Given the description of an element on the screen output the (x, y) to click on. 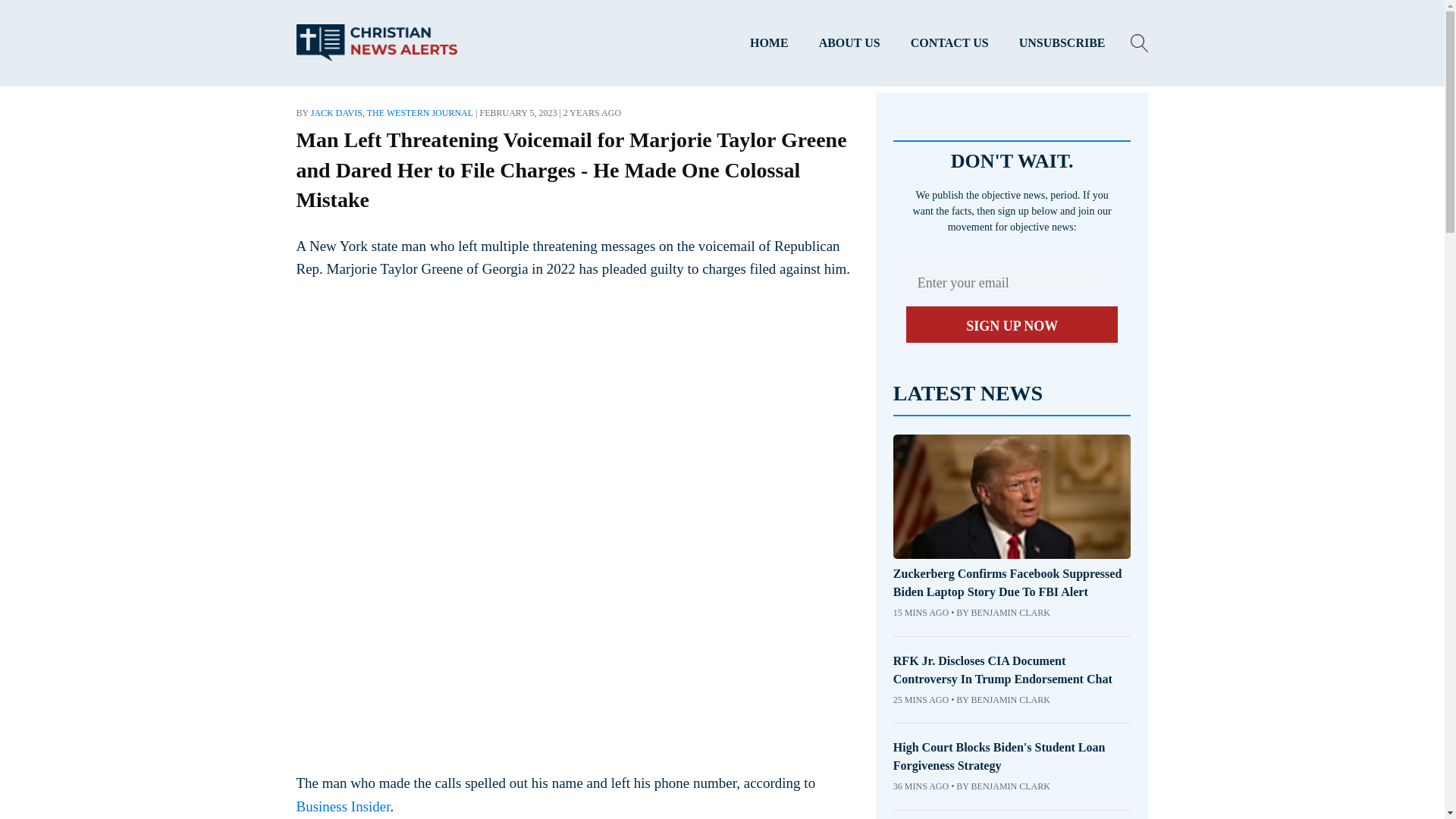
CONTACT US (949, 43)
SIGN UP NOW (1011, 324)
High Court Blocks Biden's Student Loan Forgiveness Strategy (1012, 756)
Business Insider (342, 805)
ABOUT US (849, 43)
SIGN UP NOW (1011, 324)
UNSUBSCRIBE (1062, 43)
JACK DAVIS, THE WESTERN JOURNAL (392, 112)
